Given the description of an element on the screen output the (x, y) to click on. 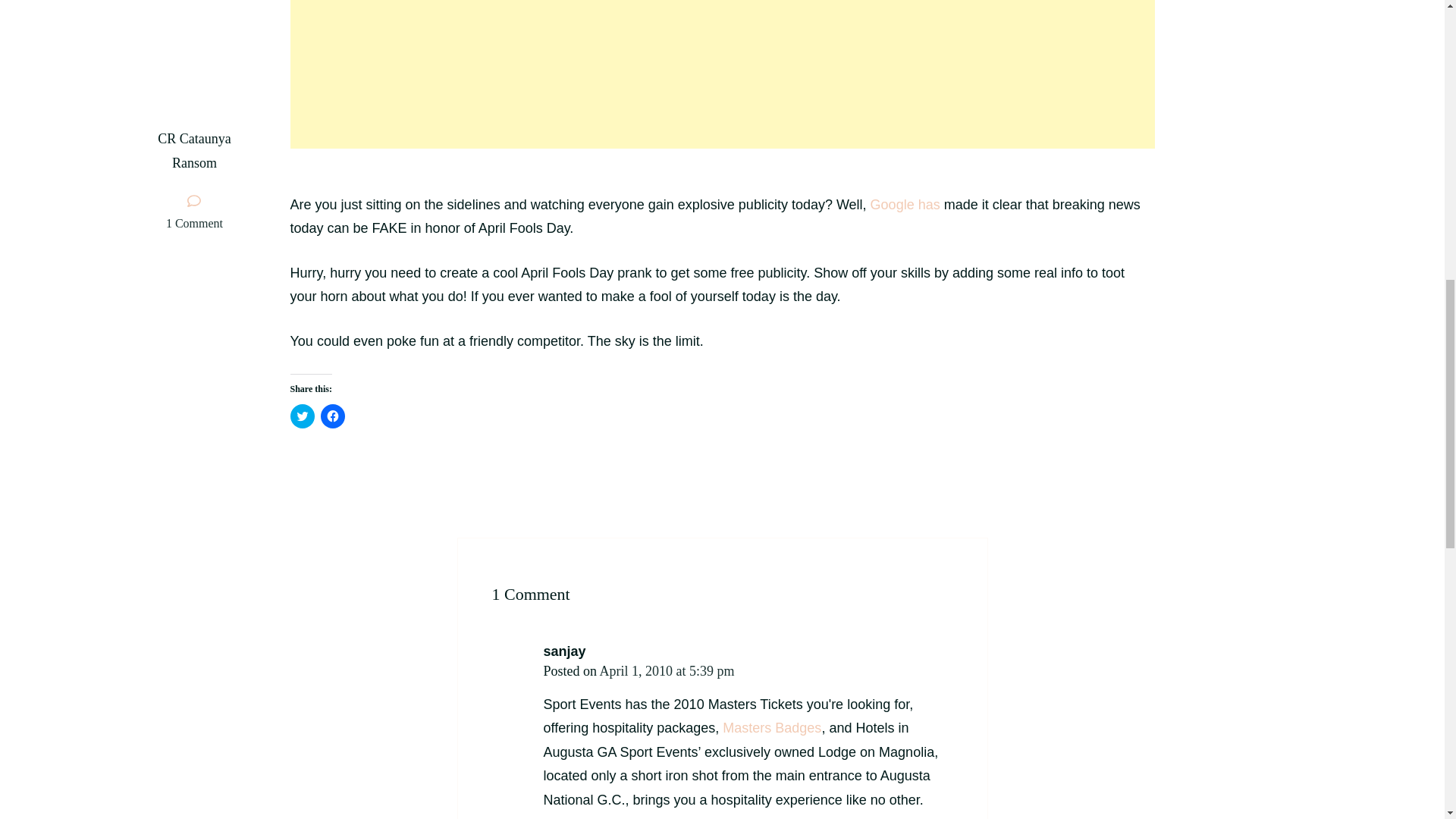
Advertisement (721, 74)
Click to share on Twitter (301, 416)
Click to share on Facebook (331, 416)
